Given the description of an element on the screen output the (x, y) to click on. 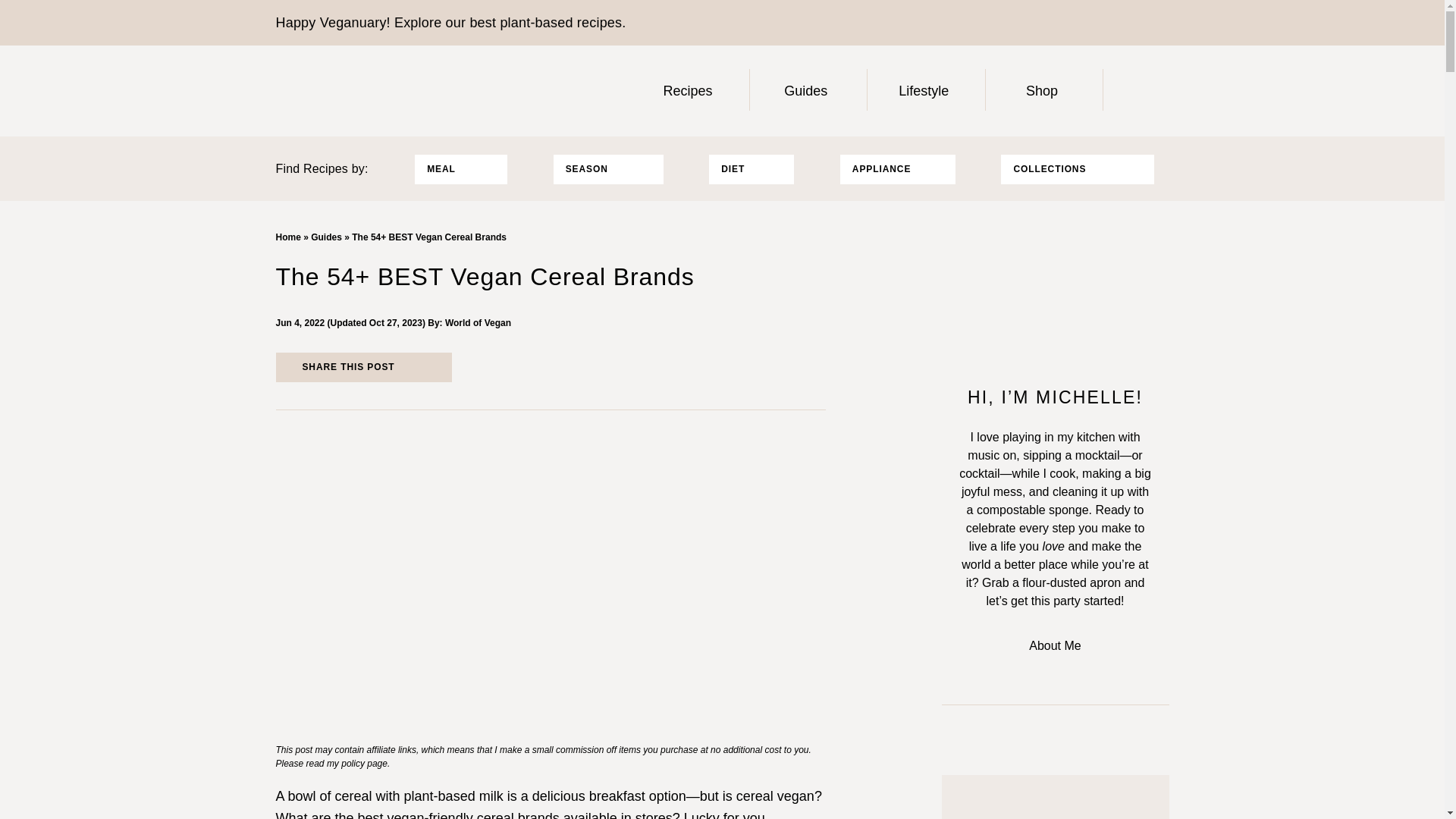
Happy Veganuary! Explore our best plant-based recipes. (451, 22)
World of Vegan (478, 322)
